Given the description of an element on the screen output the (x, y) to click on. 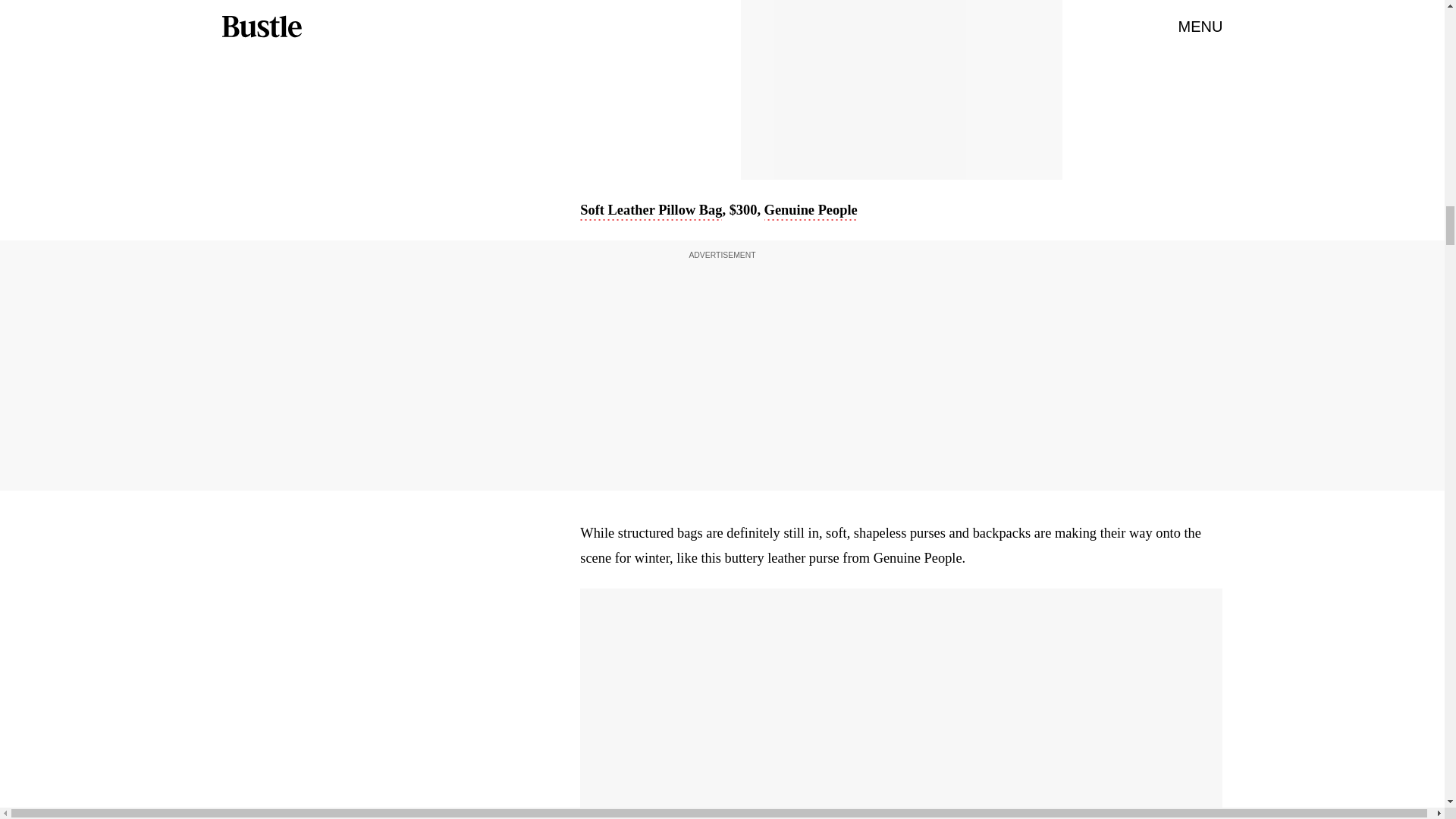
Soft Leather Pillow Bag (650, 211)
Genuine People (810, 211)
